Given the description of an element on the screen output the (x, y) to click on. 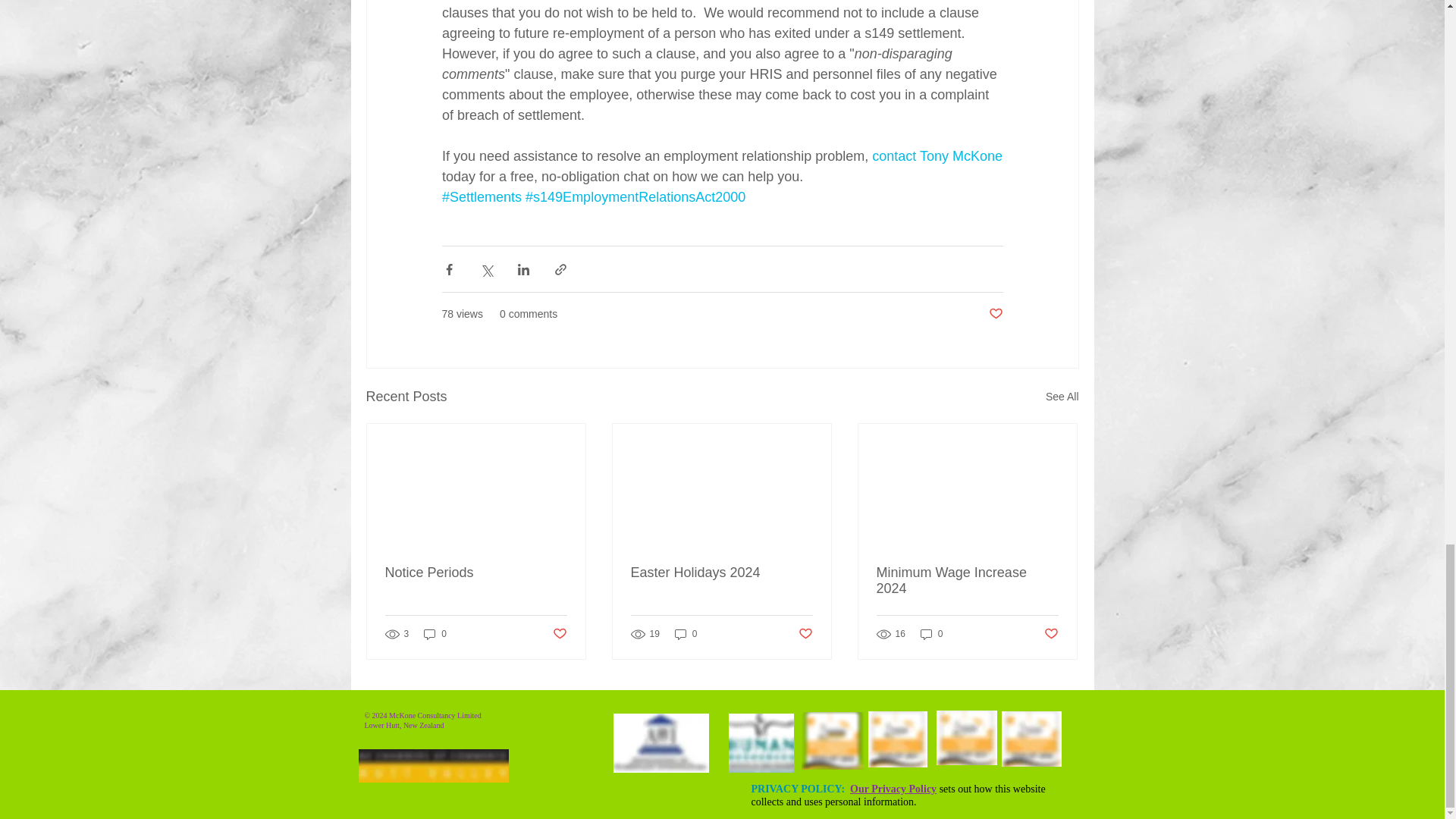
Notice Periods (476, 572)
See All (1061, 396)
Minimum Wage Increase 2024 (967, 581)
Post not marked as liked (558, 634)
Post not marked as liked (995, 314)
0 (685, 633)
contact Tony McKone (937, 155)
Easter Holidays 2024 (721, 572)
0 (435, 633)
0 (931, 633)
Post not marked as liked (1050, 634)
HuttChamber.jpg (433, 765)
Post not marked as liked (804, 634)
